Given the description of an element on the screen output the (x, y) to click on. 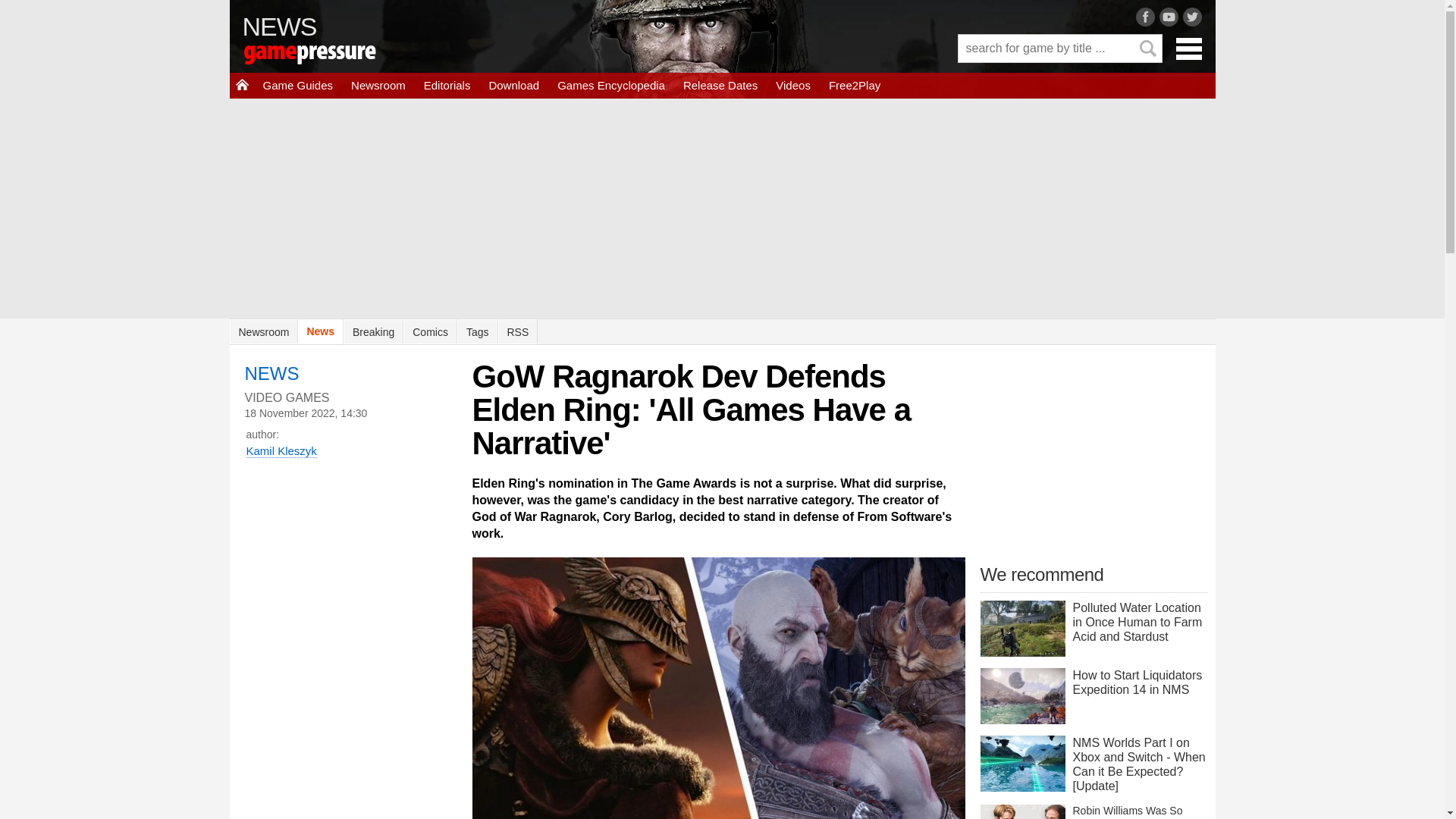
Newsroom (378, 85)
gamepressure.com (331, 55)
Breaking (373, 331)
Game Guides (297, 85)
Kamil Kleszyk (280, 450)
3rd party ad content (1093, 454)
Comics (430, 331)
Release Dates (720, 85)
Games Encyclopedia (611, 85)
Newsroom (263, 331)
NEWS (280, 26)
RSS (517, 331)
Editorials (447, 85)
Videos (793, 85)
